Given the description of an element on the screen output the (x, y) to click on. 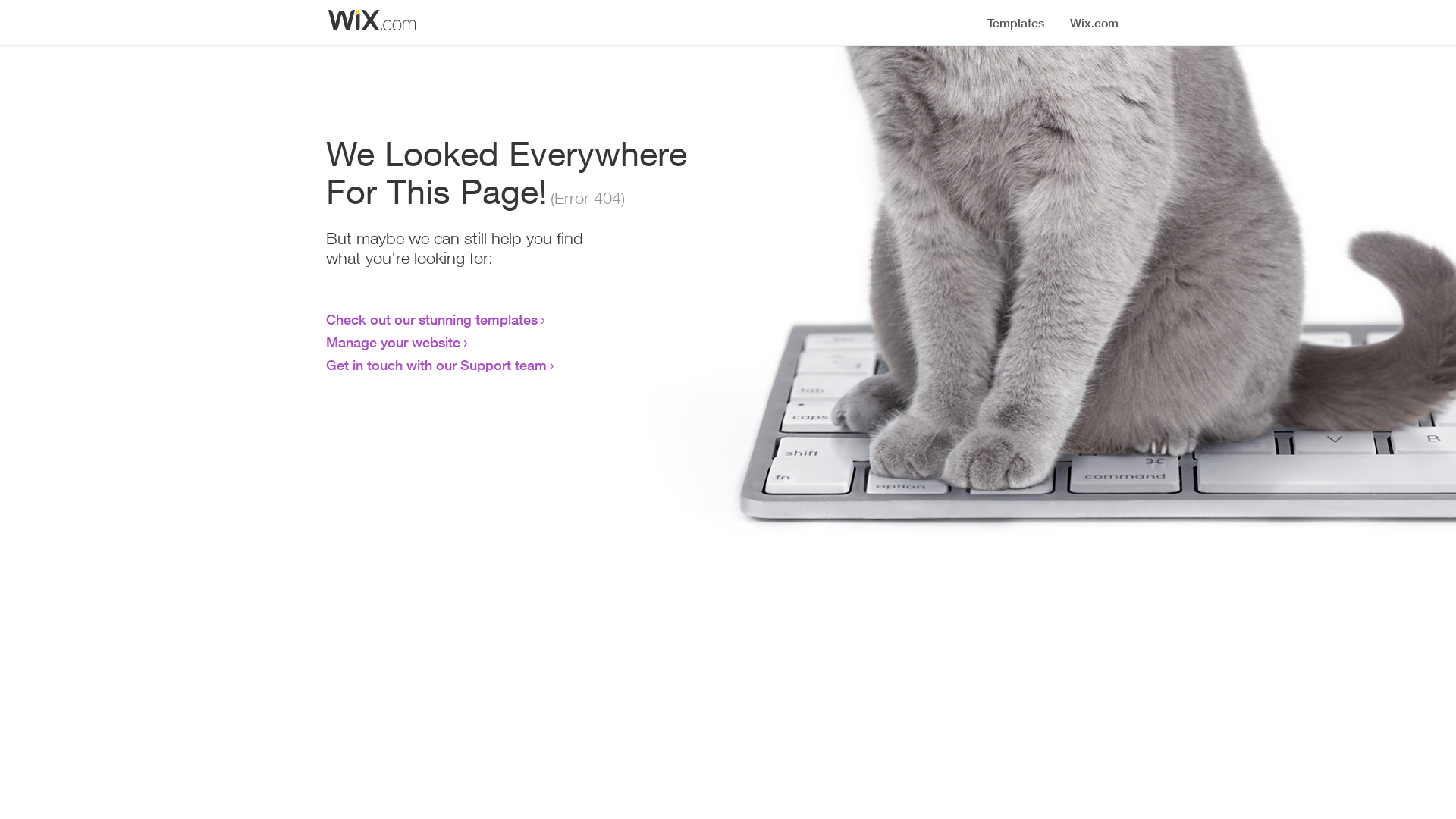
Check out our stunning templates Element type: text (431, 318)
Manage your website Element type: text (393, 341)
Get in touch with our Support team Element type: text (436, 364)
